Given the description of an element on the screen output the (x, y) to click on. 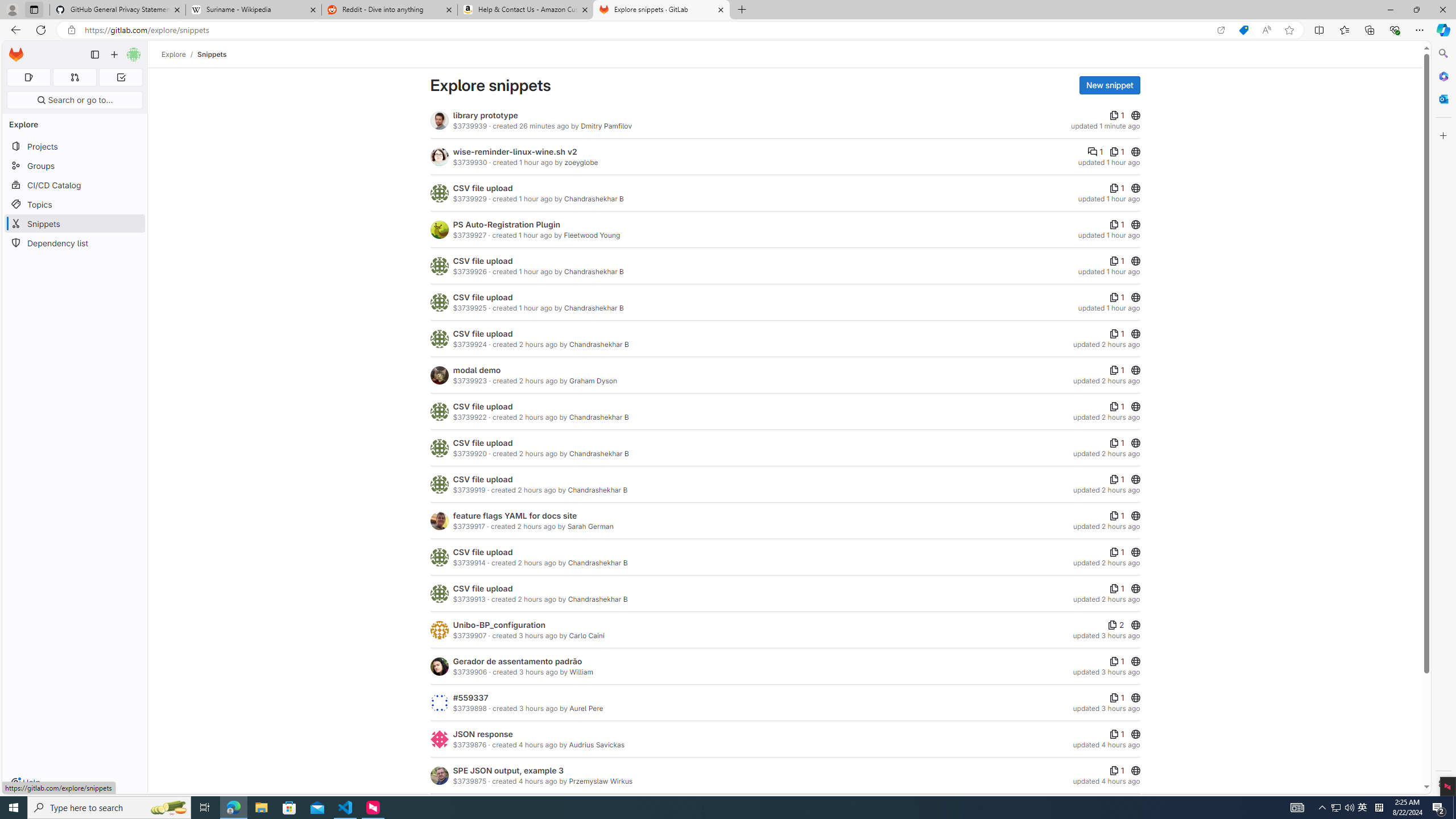
Suriname - Wikipedia (253, 9)
Topics (74, 203)
modal demo (476, 370)
Help (25, 782)
zoeyglobe (581, 162)
CI/CD Catalog (74, 185)
